Given the description of an element on the screen output the (x, y) to click on. 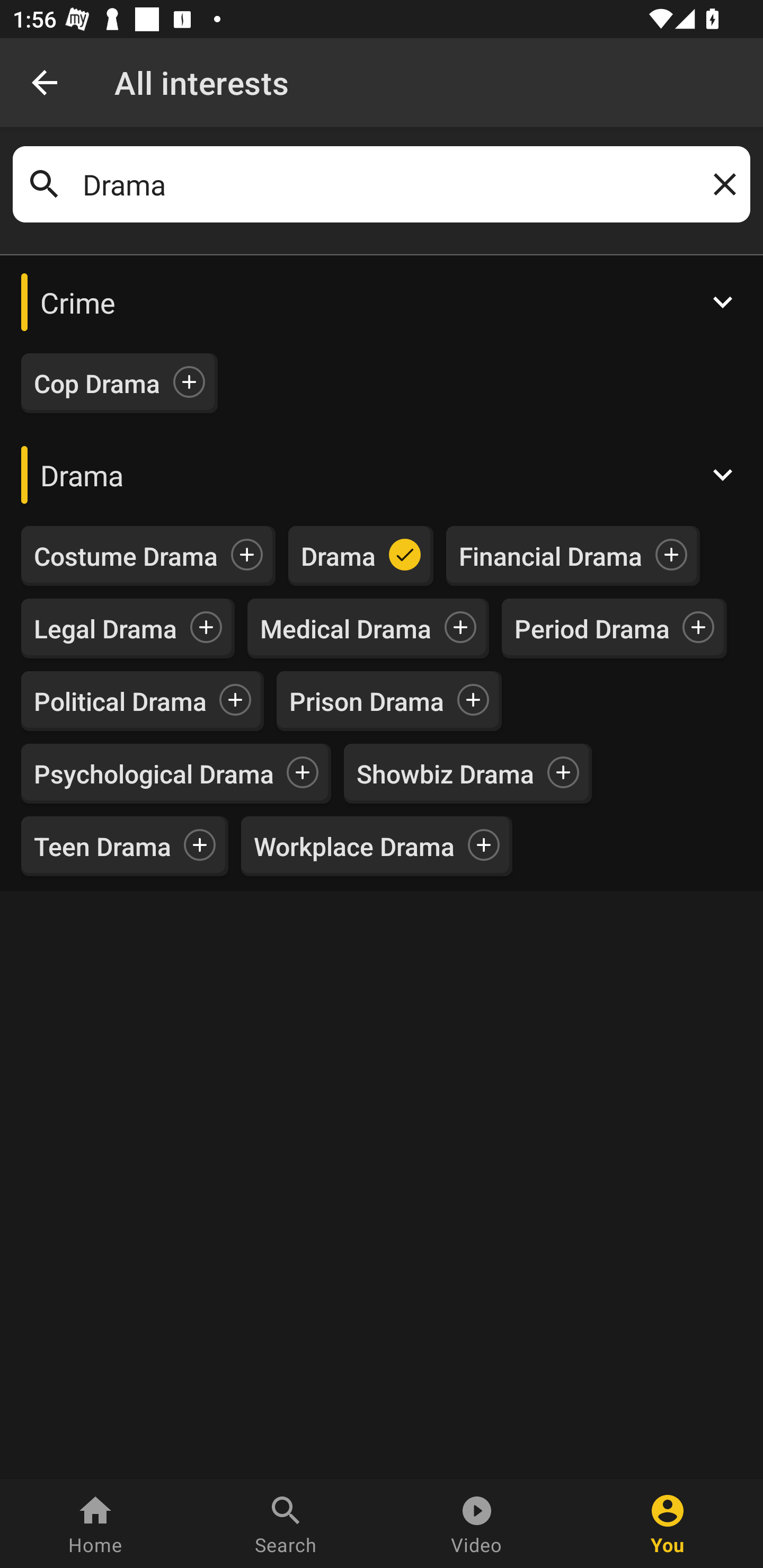
Clear query (721, 183)
Drama (381, 184)
Crime (381, 301)
Cop Drama (97, 382)
Drama (381, 474)
Costume Drama (126, 555)
Drama (338, 555)
Financial Drama (550, 555)
Legal Drama (105, 628)
Medical Drama (345, 628)
Period Drama (592, 628)
Political Drama (120, 700)
Prison Drama (366, 700)
Psychological Drama (153, 772)
Showbiz Drama (445, 772)
Teen Drama (102, 846)
Workplace Drama (354, 846)
Home (95, 1523)
Search (285, 1523)
Video (476, 1523)
